Given the description of an element on the screen output the (x, y) to click on. 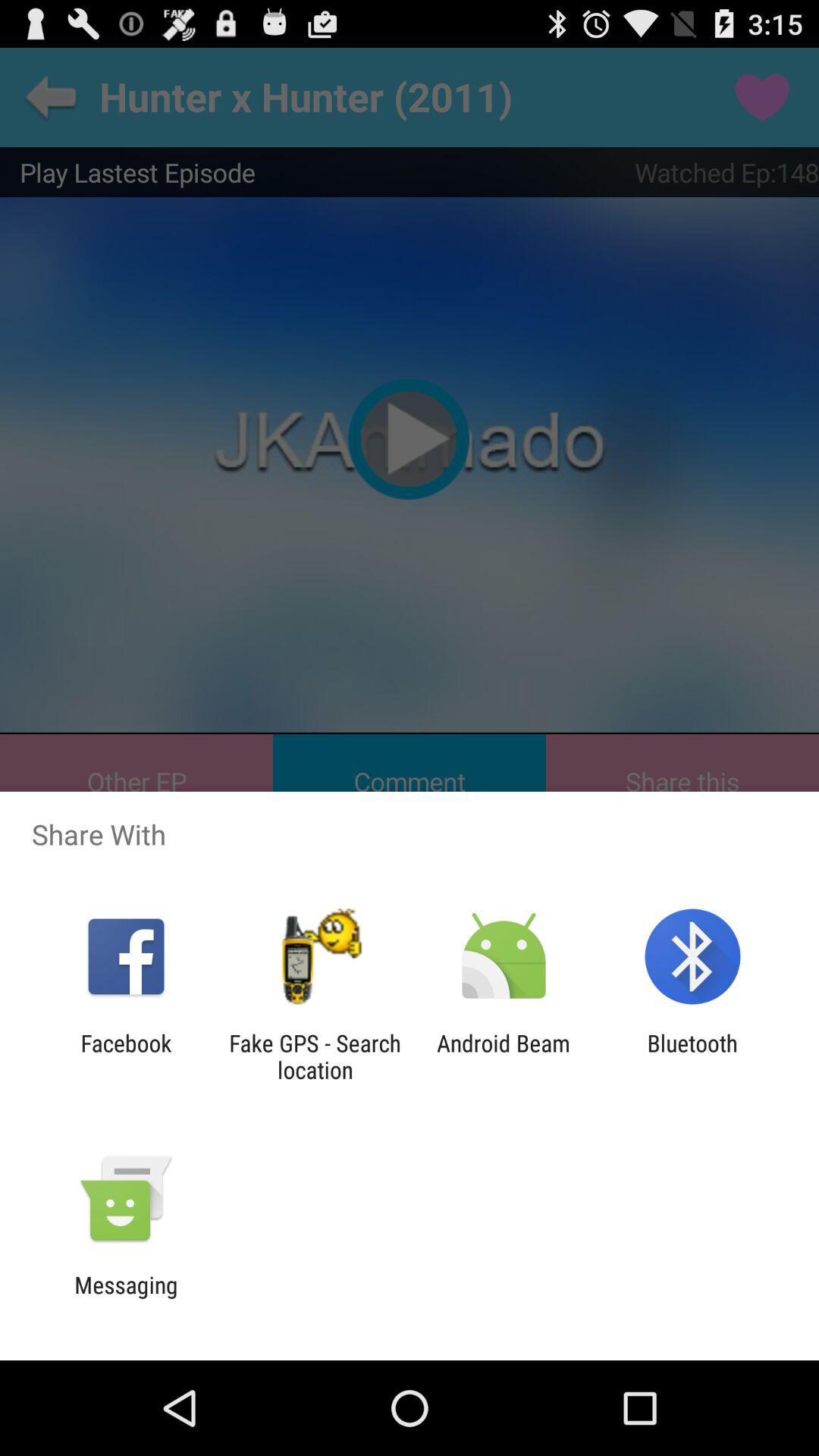
jump until the messaging app (126, 1298)
